Given the description of an element on the screen output the (x, y) to click on. 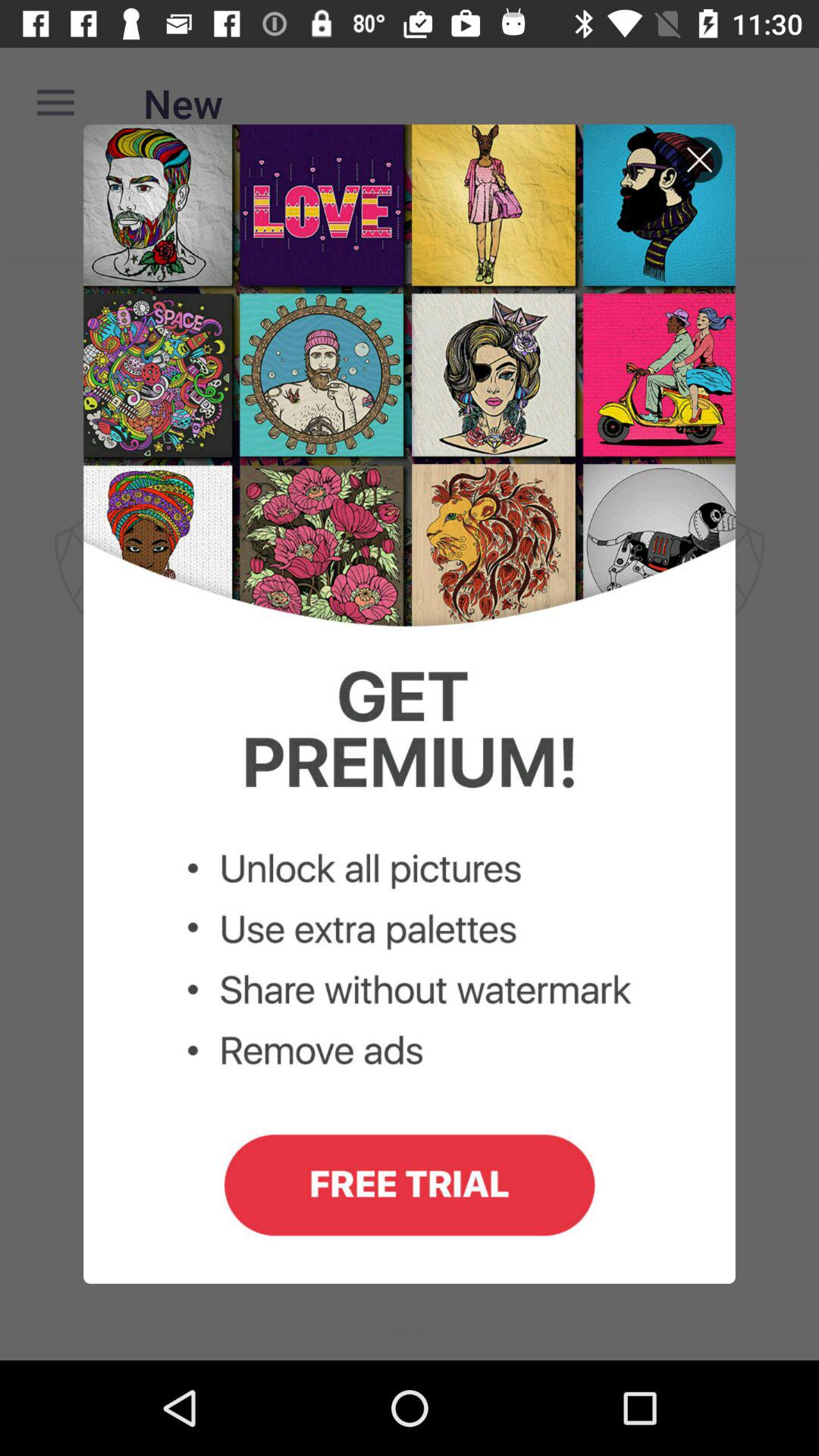
share without watermark (409, 703)
